Given the description of an element on the screen output the (x, y) to click on. 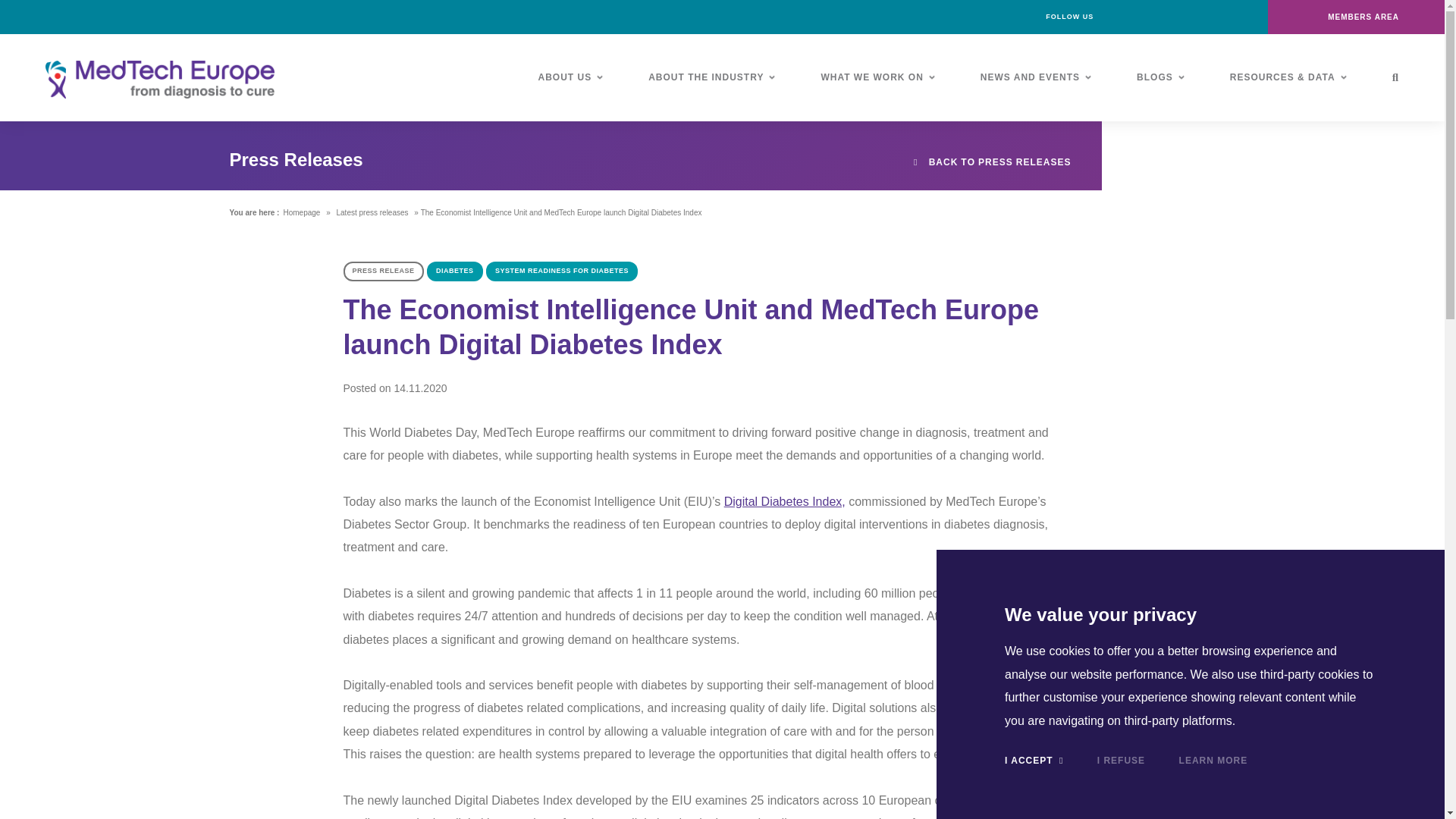
Youtube (1220, 17)
LEARN MORE (1213, 760)
Facebook (1117, 17)
Linkedin (1152, 17)
I ACCEPT (1033, 760)
Twitter (1186, 17)
MEMBERS AREA (1356, 17)
I REFUSE (1120, 760)
ABOUT THE INDUSTRY (710, 77)
WHAT WE WORK ON (877, 77)
